Given the description of an element on the screen output the (x, y) to click on. 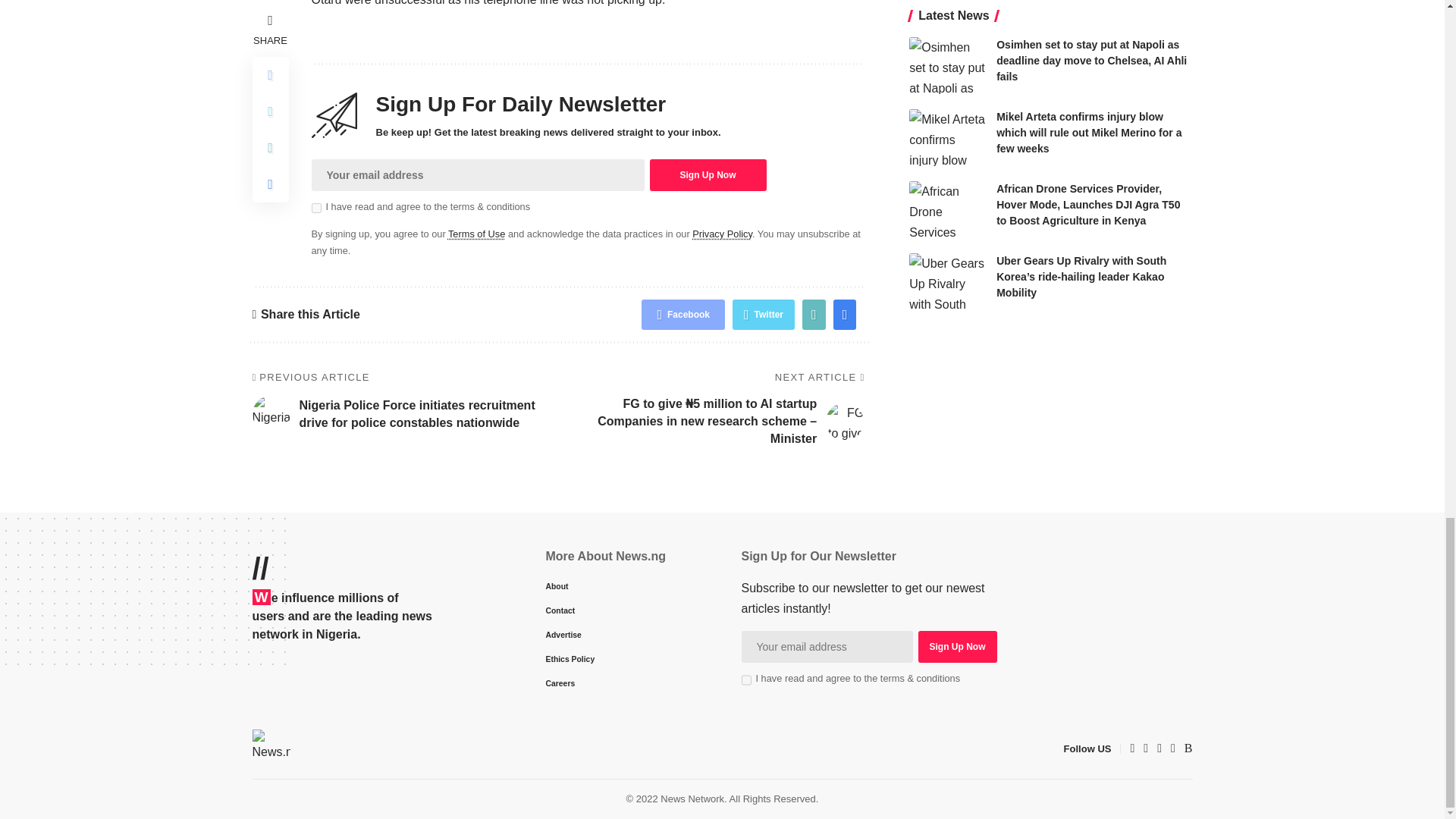
Sign Up Now (707, 174)
News.ng (270, 748)
Sign Up Now (956, 646)
